Given the description of an element on the screen output the (x, y) to click on. 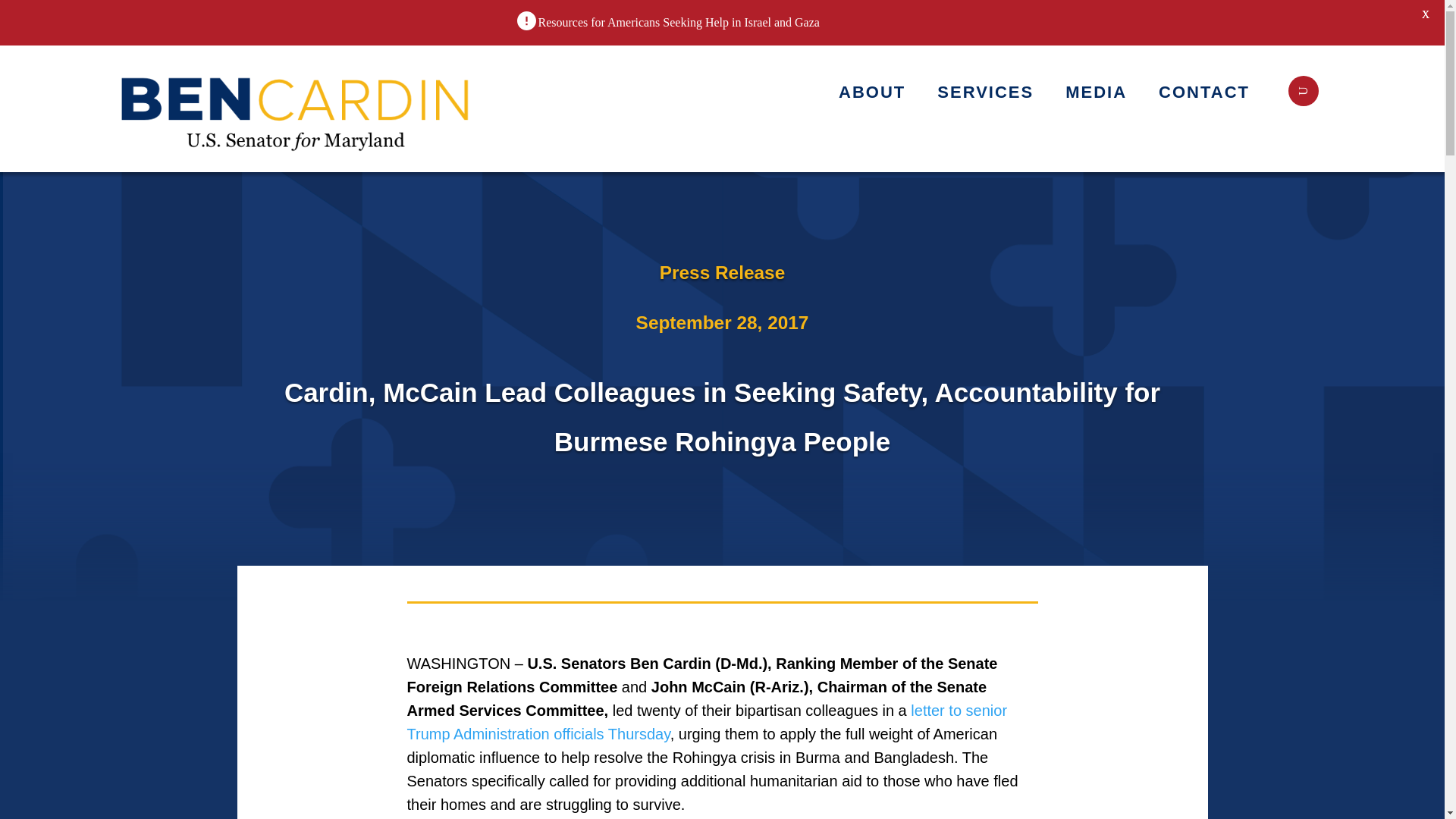
Large-Inner (296, 108)
